Given the description of an element on the screen output the (x, y) to click on. 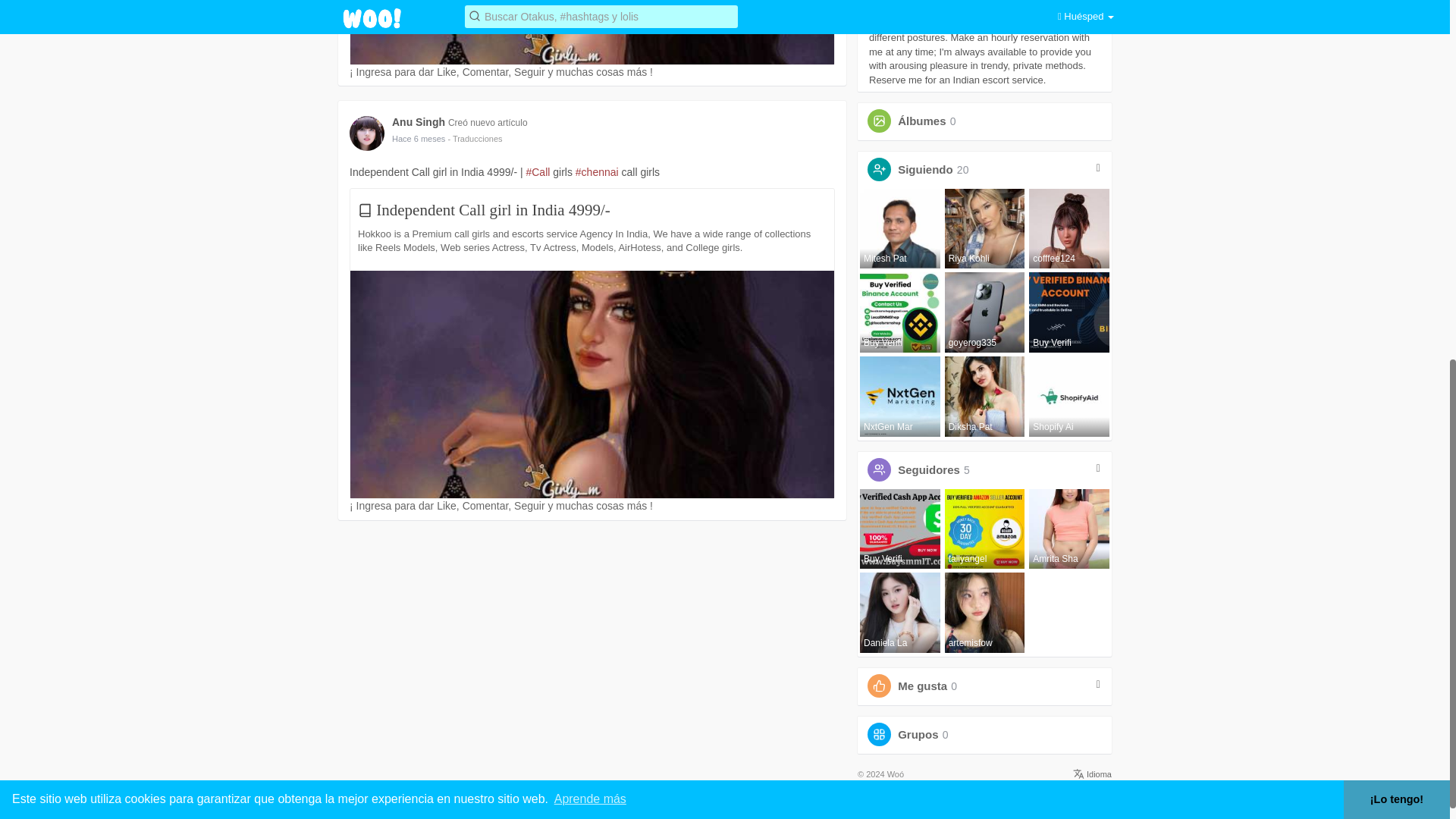
Mitesh Pat (900, 229)
Siguiendo (925, 169)
Buy Verifi (900, 311)
goyerog335 (984, 311)
6 meses (418, 138)
Traducciones (474, 138)
Riya Kohli (984, 229)
Hace 6 meses (418, 138)
Anu Singh (420, 121)
cofffee124 (1069, 229)
